Given the description of an element on the screen output the (x, y) to click on. 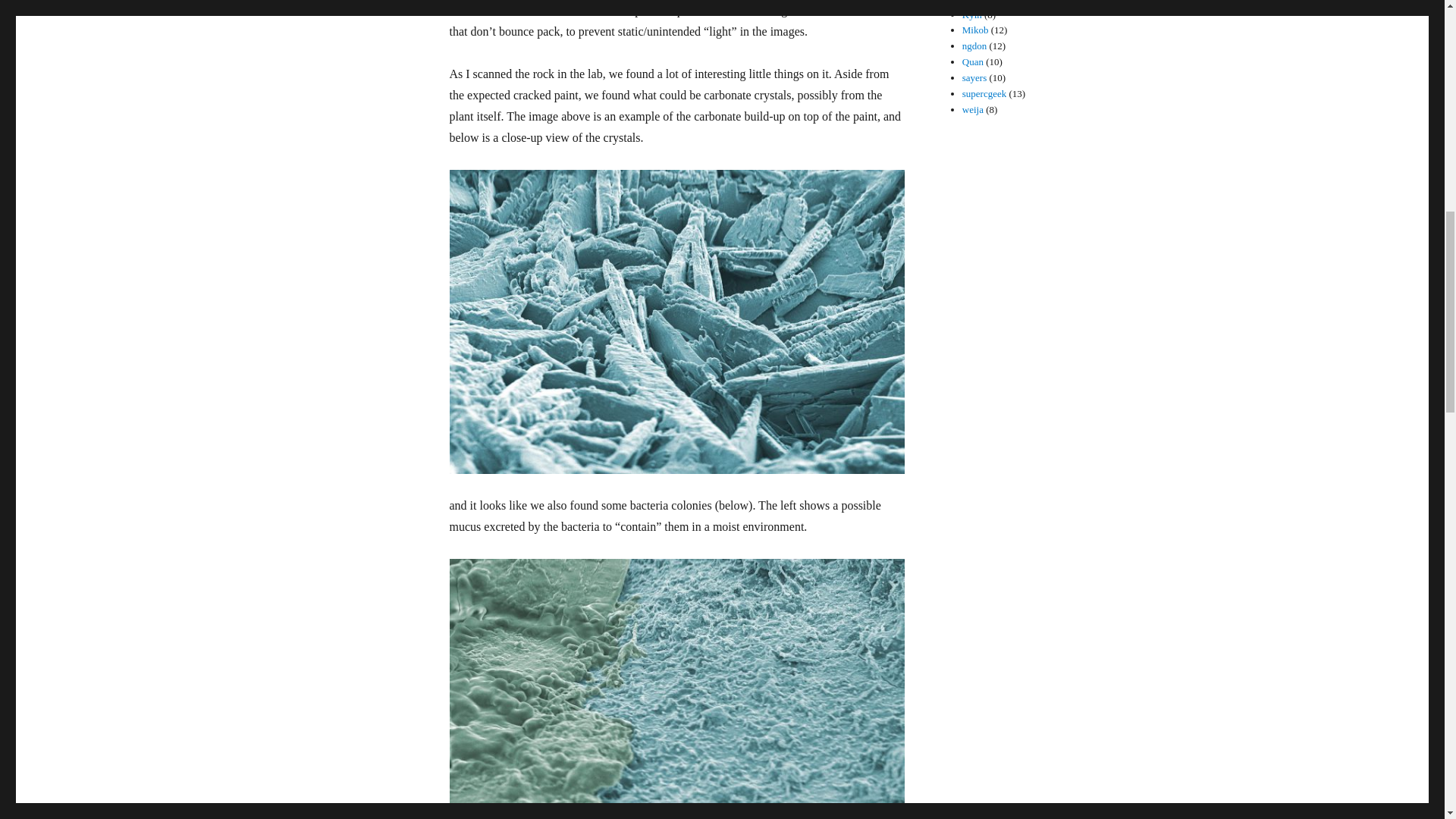
Posts by ngdon (974, 45)
Posts by iciaiot (974, 2)
Posts by Kyin (971, 14)
Posts by Mikob (975, 30)
